Given the description of an element on the screen output the (x, y) to click on. 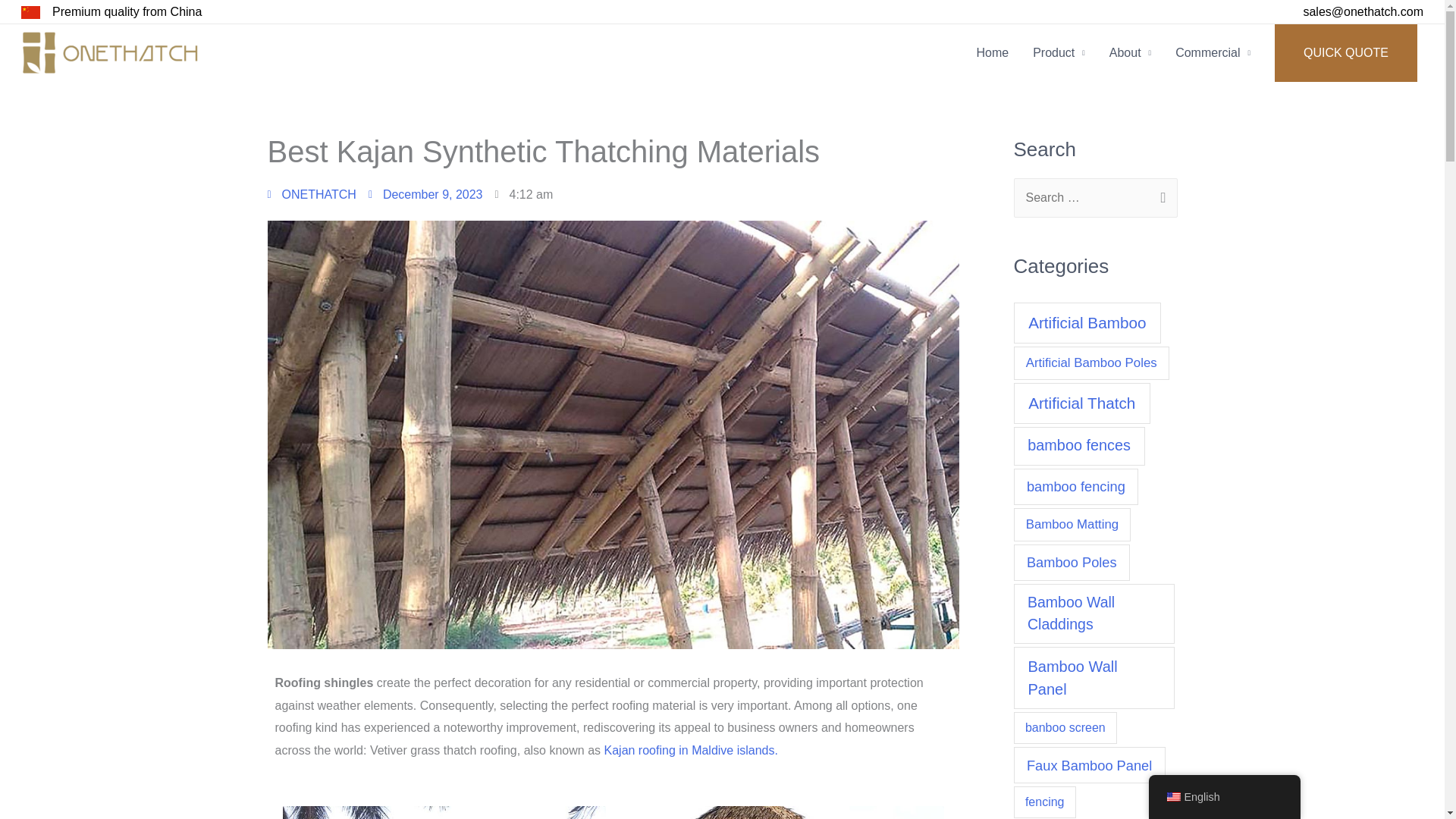
Product (1058, 52)
Home (991, 52)
English (1172, 796)
About (1130, 52)
QUICK QUOTE (1345, 52)
Commercial (1212, 52)
Premium quality from China (127, 11)
